Given the description of an element on the screen output the (x, y) to click on. 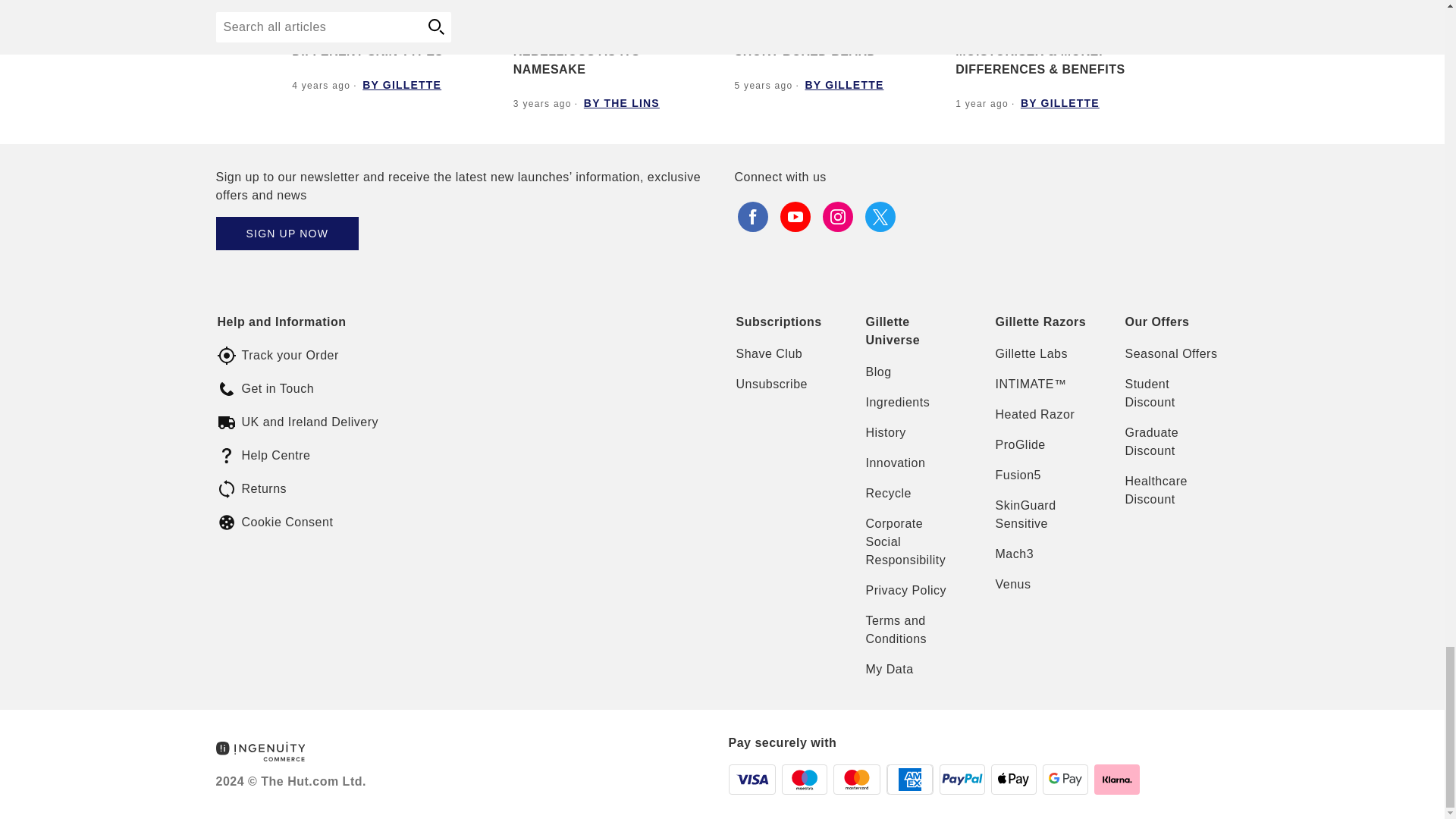
instagram (837, 217)
facebook (751, 217)
youtube (794, 217)
twitter (879, 217)
